Given the description of an element on the screen output the (x, y) to click on. 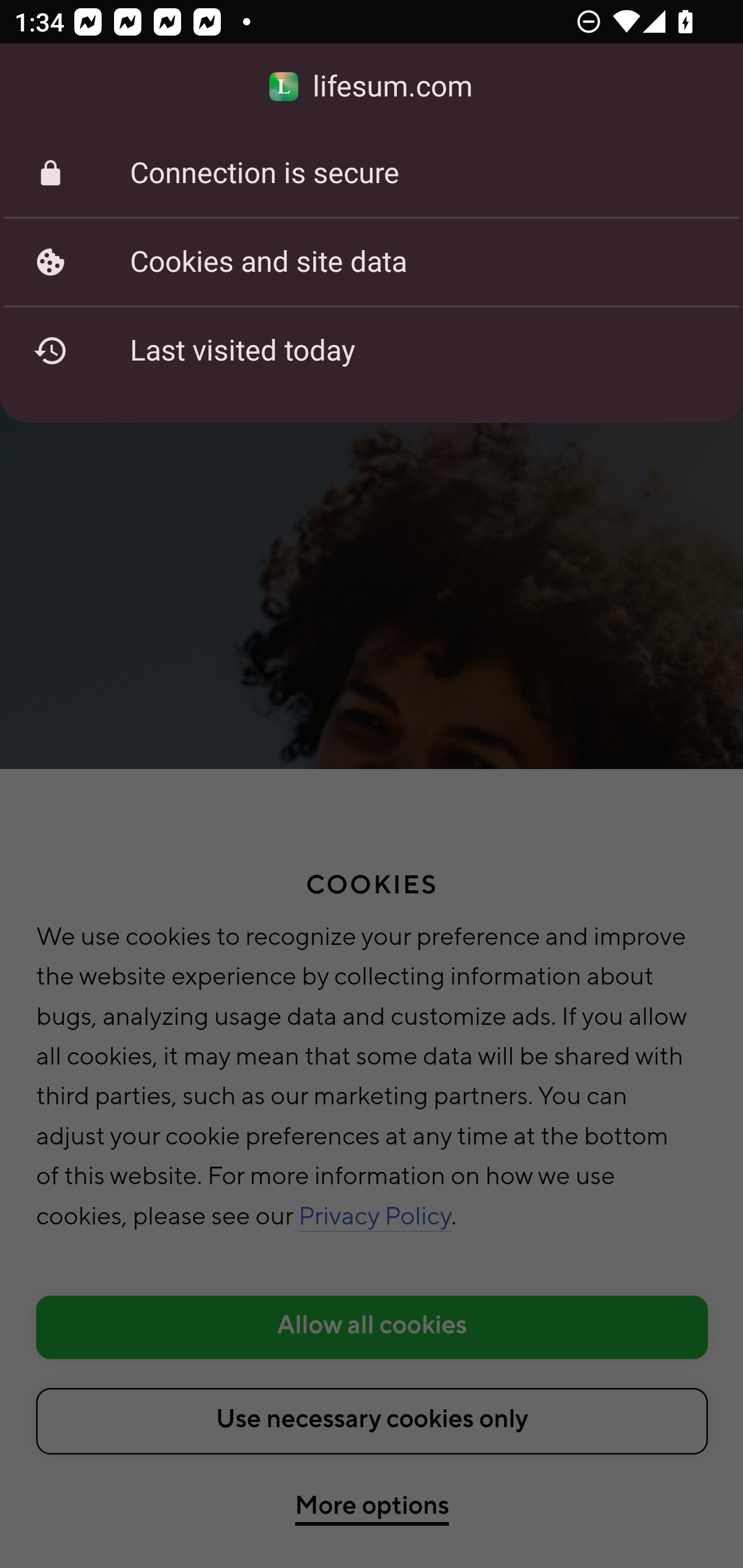
lifesum.com (371, 86)
Connection is secure (371, 173)
Cookies and site data (371, 261)
Last visited today (371, 350)
